Given the description of an element on the screen output the (x, y) to click on. 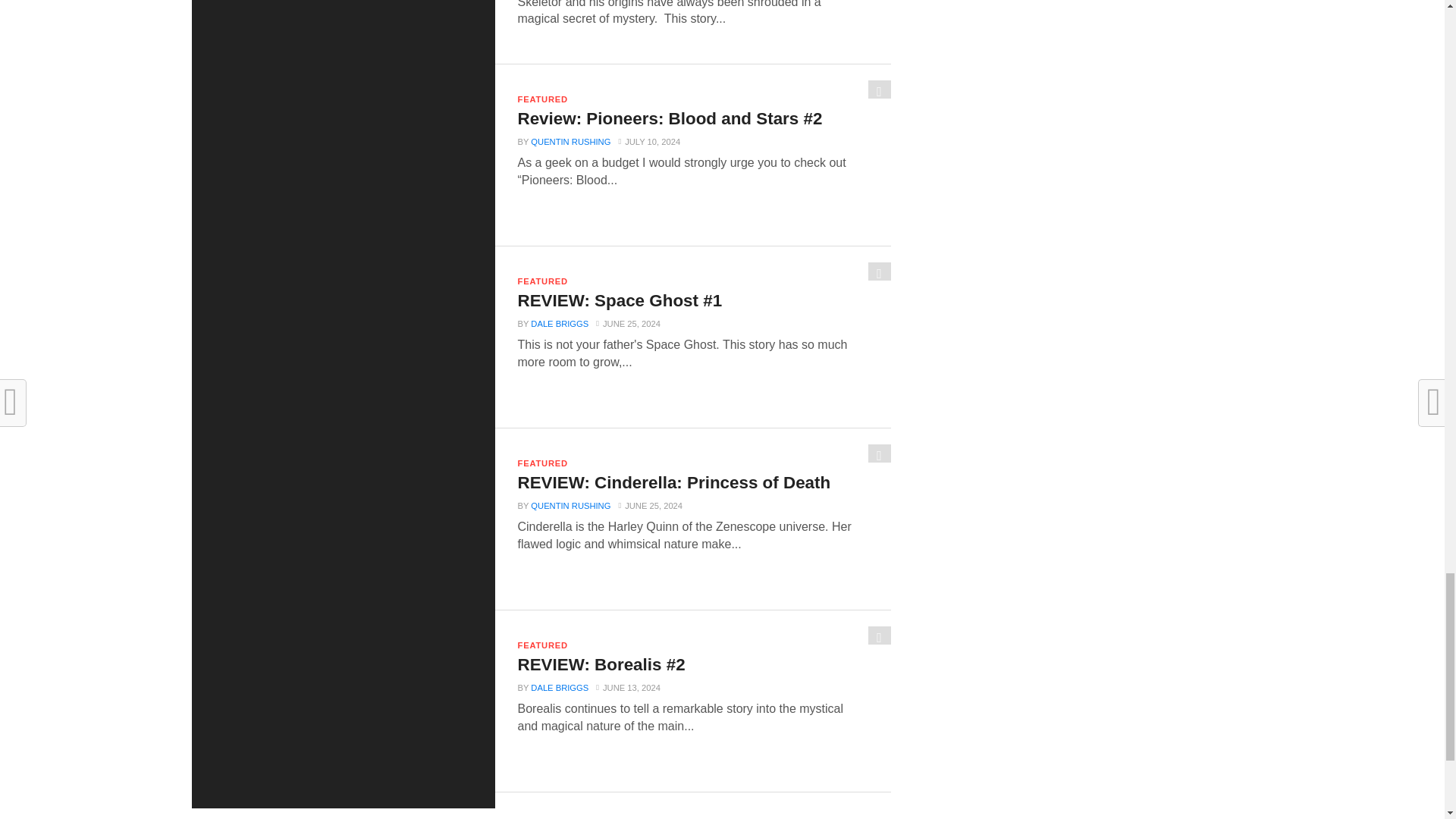
Posts by Dale Briggs (559, 323)
Posts by Quentin Rushing (570, 141)
